Given the description of an element on the screen output the (x, y) to click on. 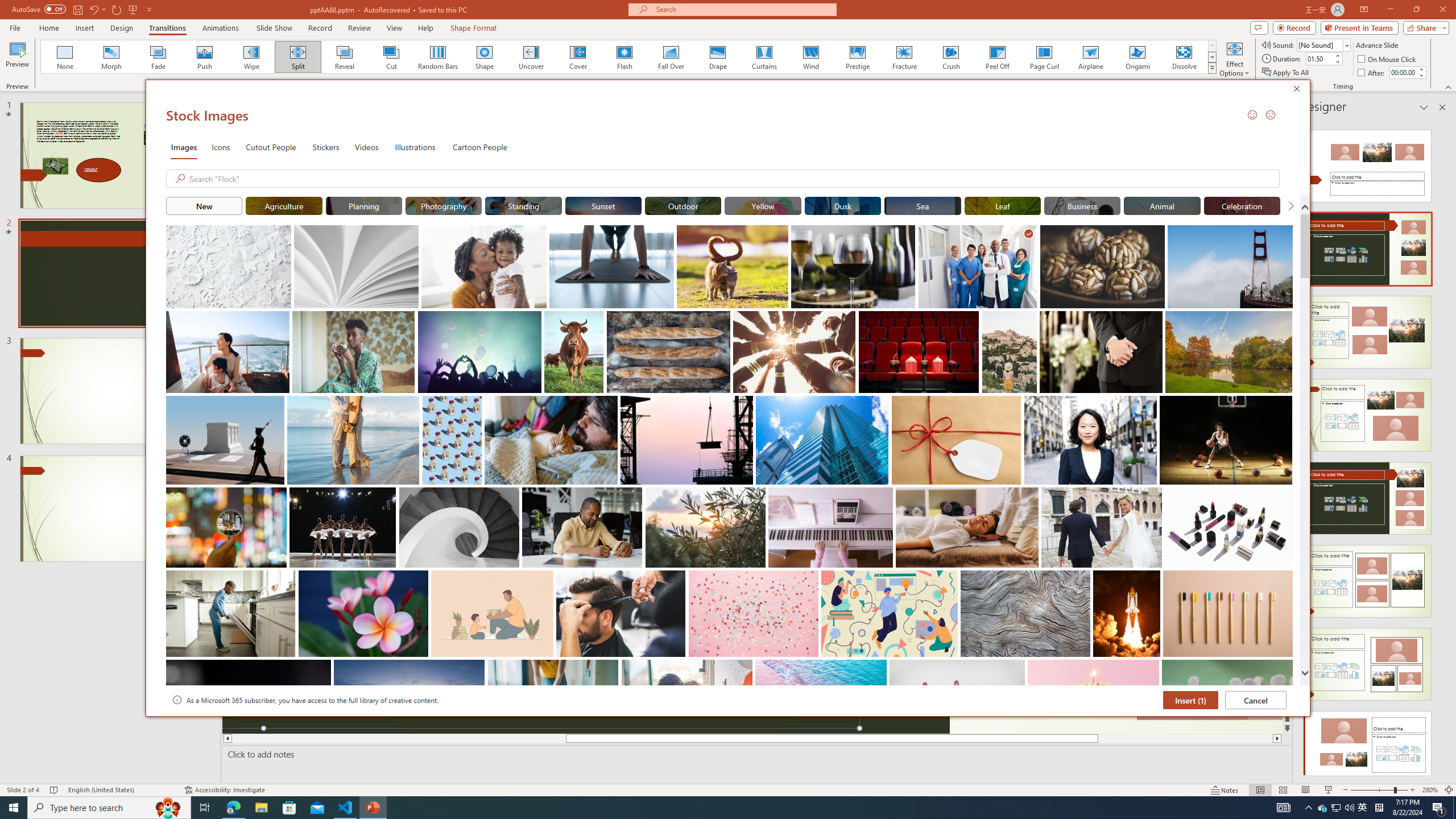
"Outdoor" Stock Images. (682, 205)
Flash (624, 56)
Action Center, 1 new notification (1439, 807)
Search highlights icon opens search home window (167, 807)
Preview (17, 58)
Microsoft Edge - 1 running window (233, 807)
Wind (810, 56)
System (6, 6)
Icons (220, 146)
